Given the description of an element on the screen output the (x, y) to click on. 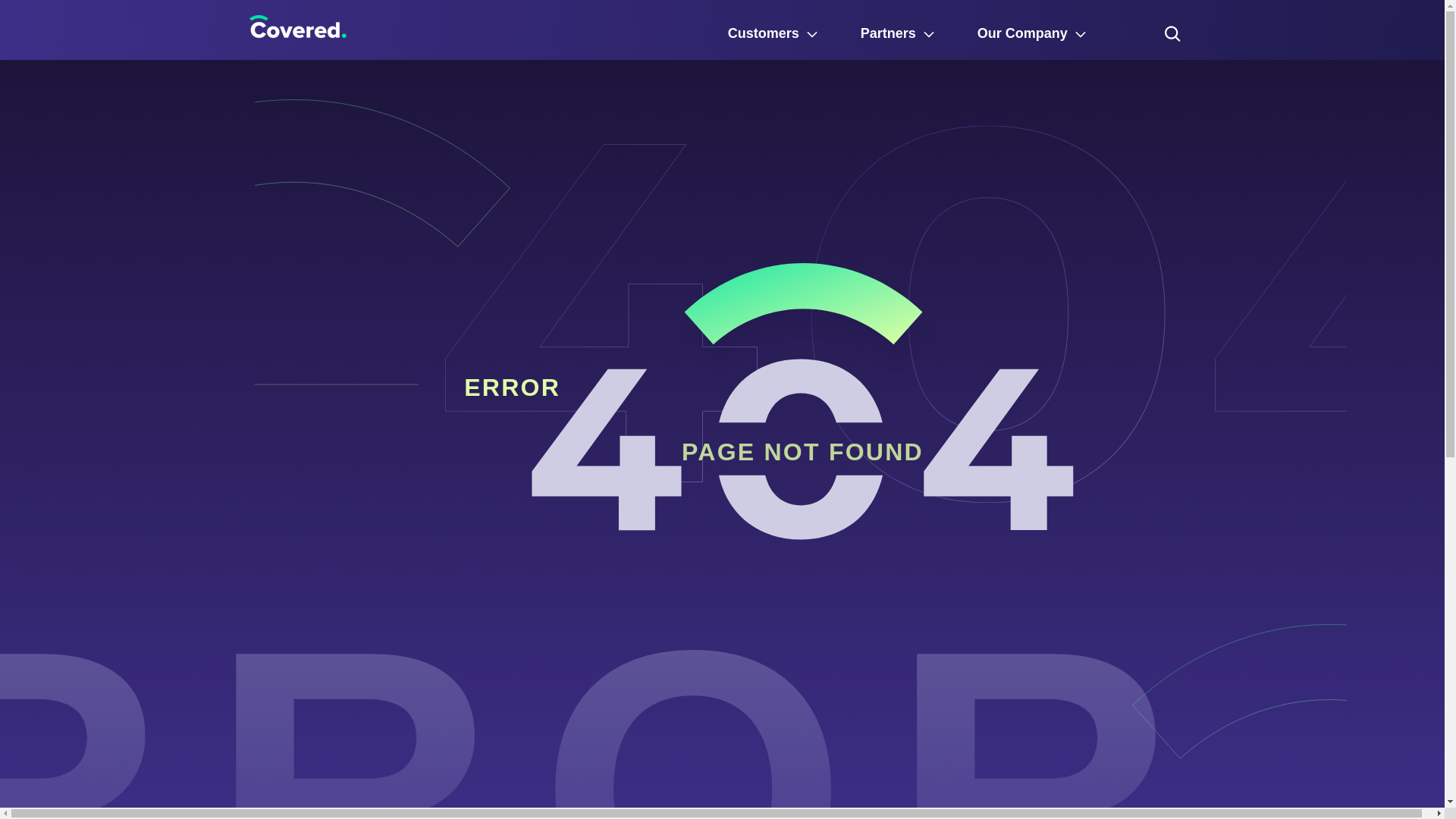
Partners (898, 33)
Customers (773, 33)
Horizontal-Jul-31-2024-02-58-20-9850-PM (297, 30)
Our Company (1031, 33)
